Given the description of an element on the screen output the (x, y) to click on. 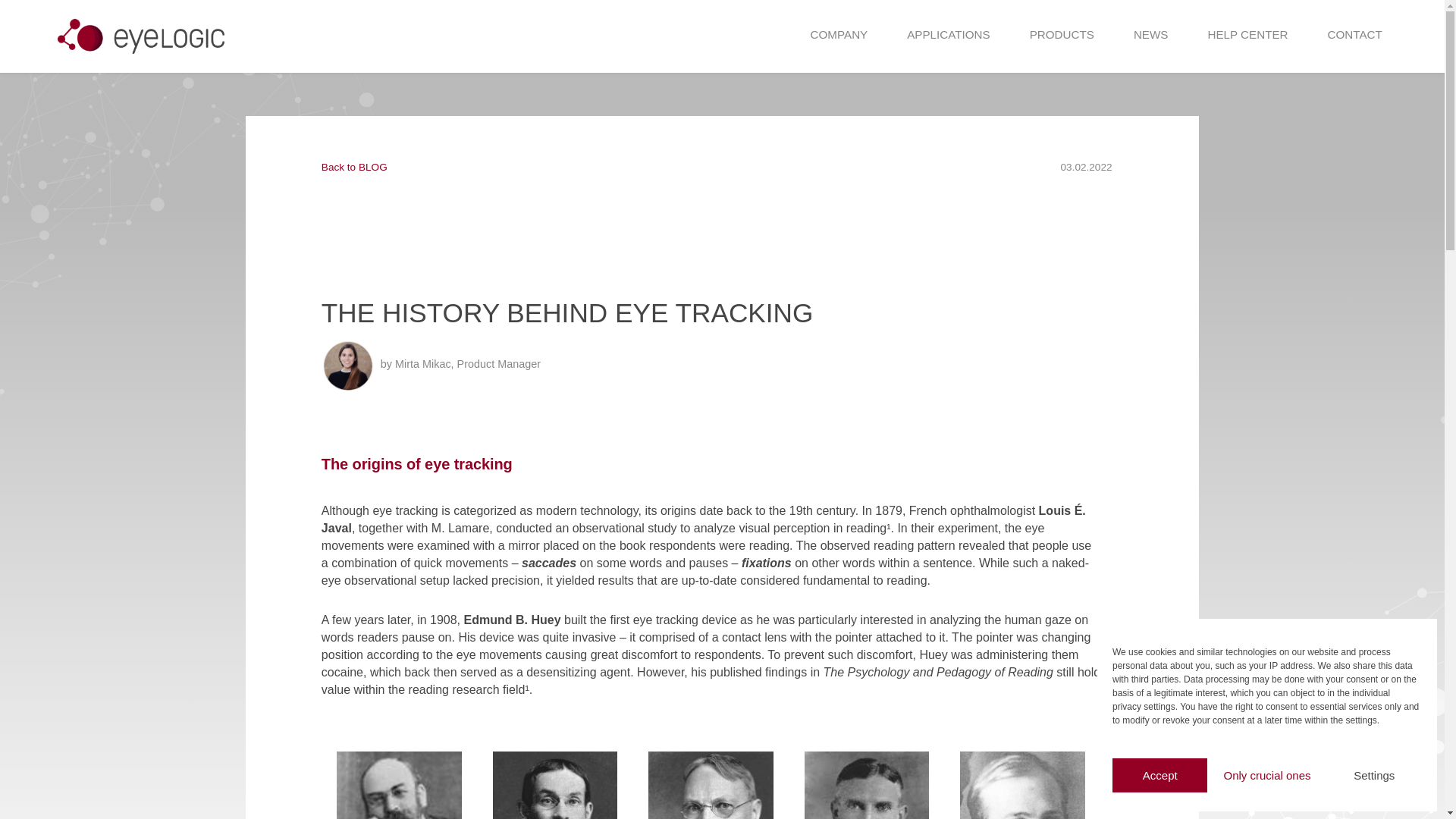
CONTACT (1355, 34)
PRODUCTS (1065, 34)
COMPANY (839, 34)
APPLICATIONS (951, 34)
Accept (1159, 775)
COMPANY (843, 34)
Only crucial ones (1266, 775)
PRODUCTS (1062, 34)
HELP CENTER (1247, 34)
NEWS (1151, 34)
